Given the description of an element on the screen output the (x, y) to click on. 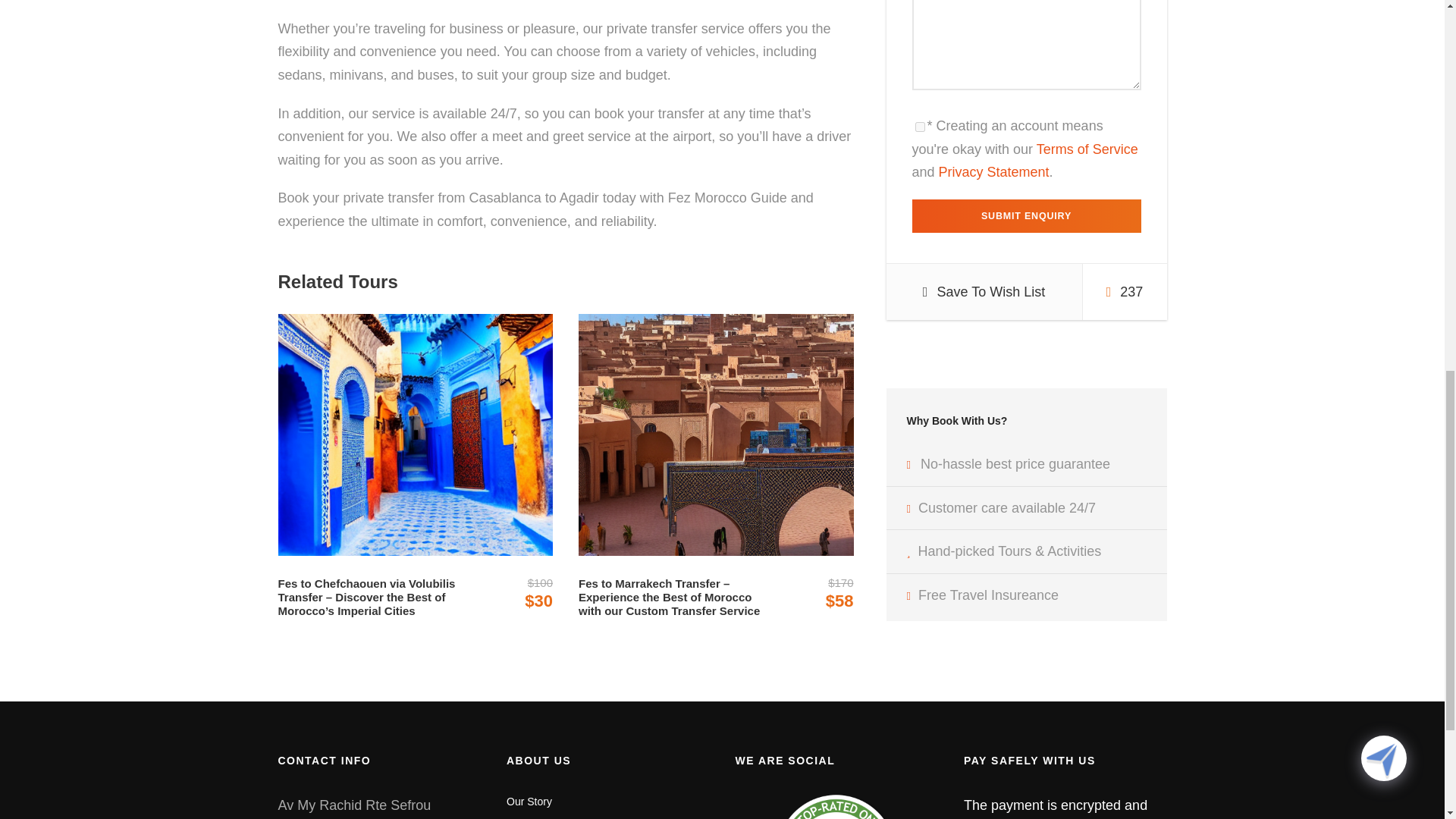
Submit Enquiry (1025, 215)
on (919, 126)
